Given the description of an element on the screen output the (x, y) to click on. 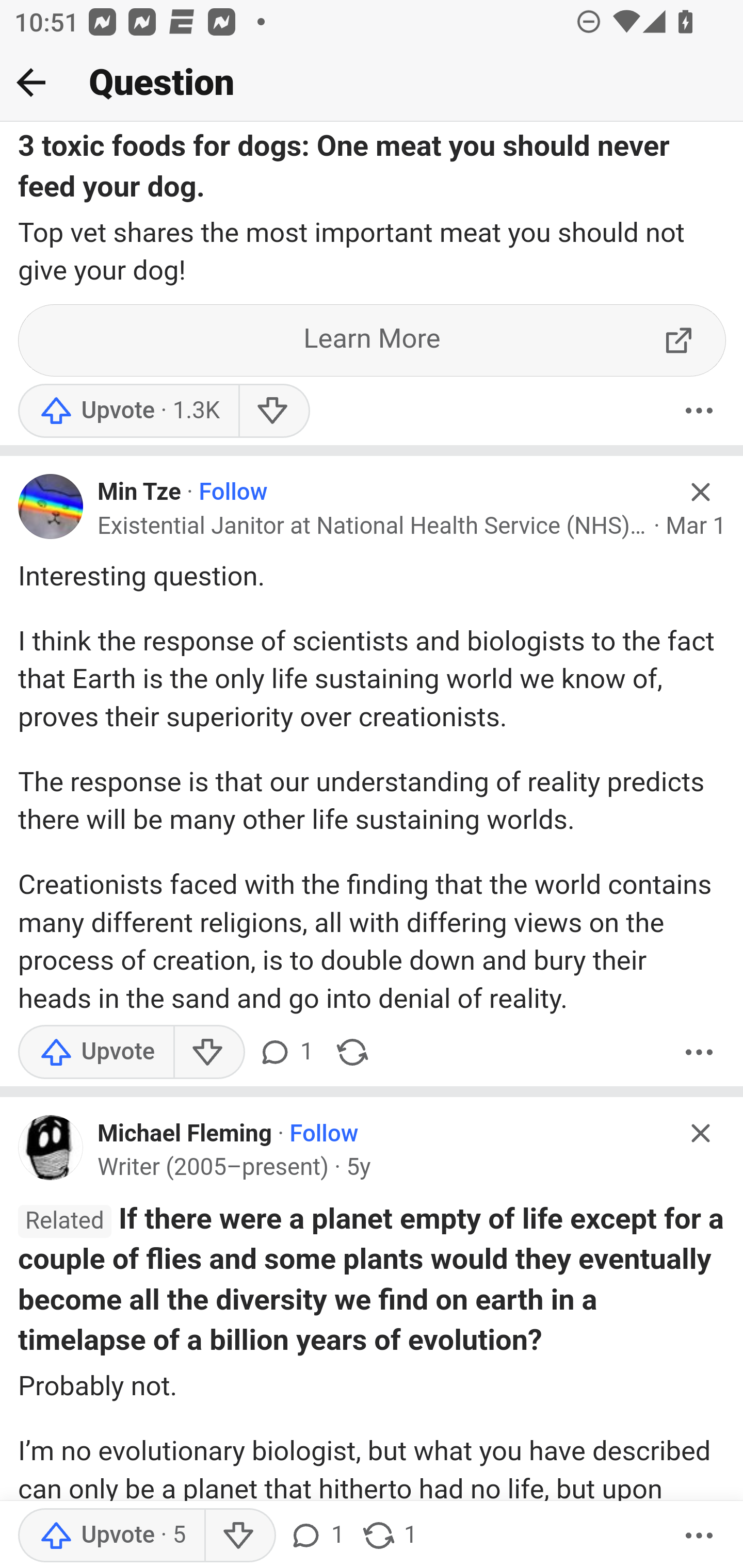
Back (30, 82)
Learn More ExternalLink (372, 340)
Upvote (127, 410)
Downvote (273, 410)
More (699, 410)
Hide (700, 492)
Profile photo for Min Tze (50, 506)
Min Tze (139, 493)
Follow (233, 493)
Hide (700, 1132)
Profile photo for Michael Fleming (50, 1147)
Michael Fleming (184, 1134)
Follow (323, 1134)
Upvote (111, 1535)
Downvote (238, 1535)
1 comment (315, 1535)
1 share (388, 1535)
More (699, 1535)
